Given the description of an element on the screen output the (x, y) to click on. 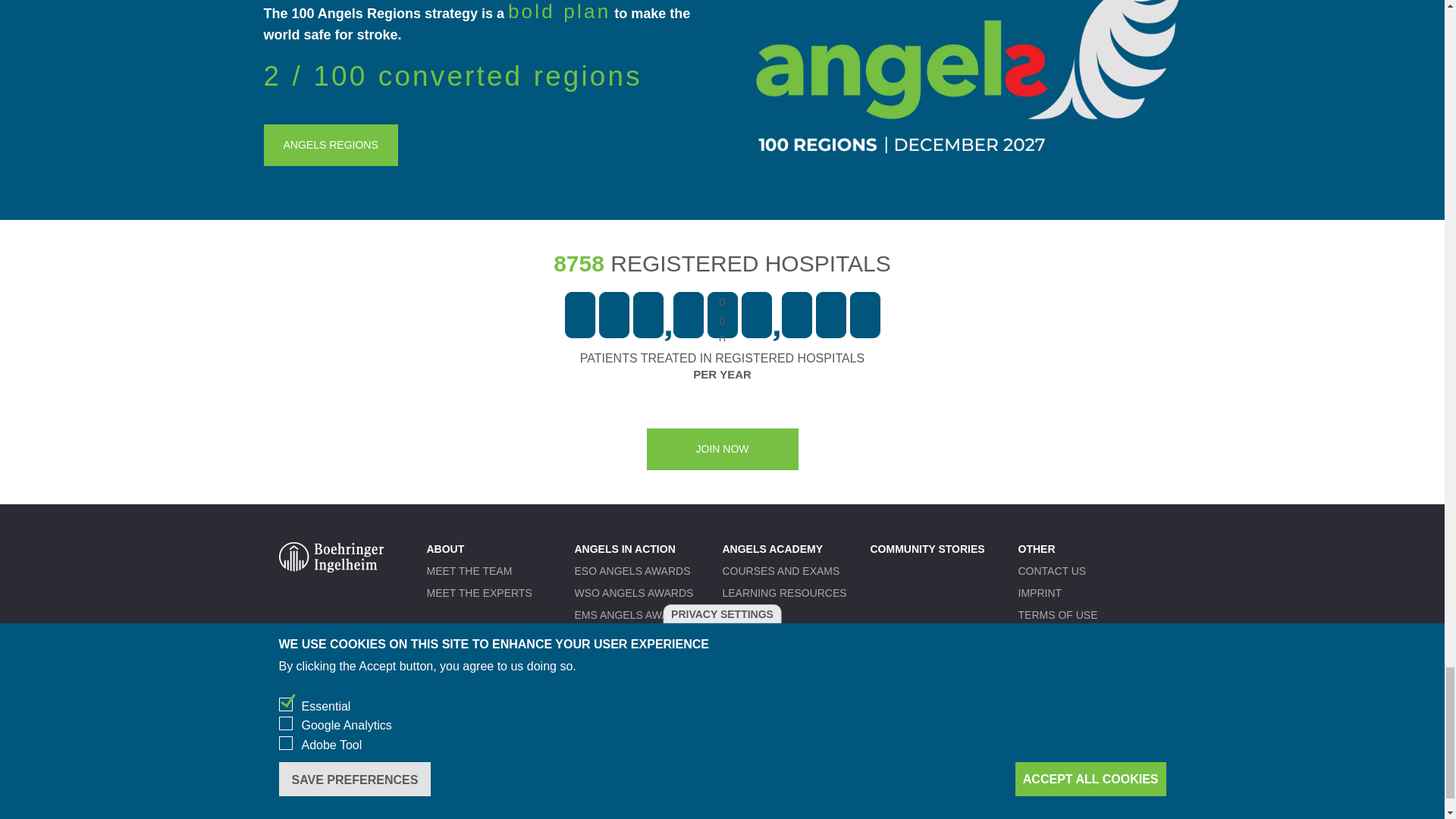
Privacy policy (1061, 658)
Country Level Strategy (648, 709)
Imprint (1039, 592)
Meet the team (469, 571)
Terms of use (1057, 614)
Meet the experts (478, 592)
Angels in Action (625, 548)
About (445, 548)
Accessibility statement (1089, 636)
FAQs (1031, 680)
